Given the description of an element on the screen output the (x, y) to click on. 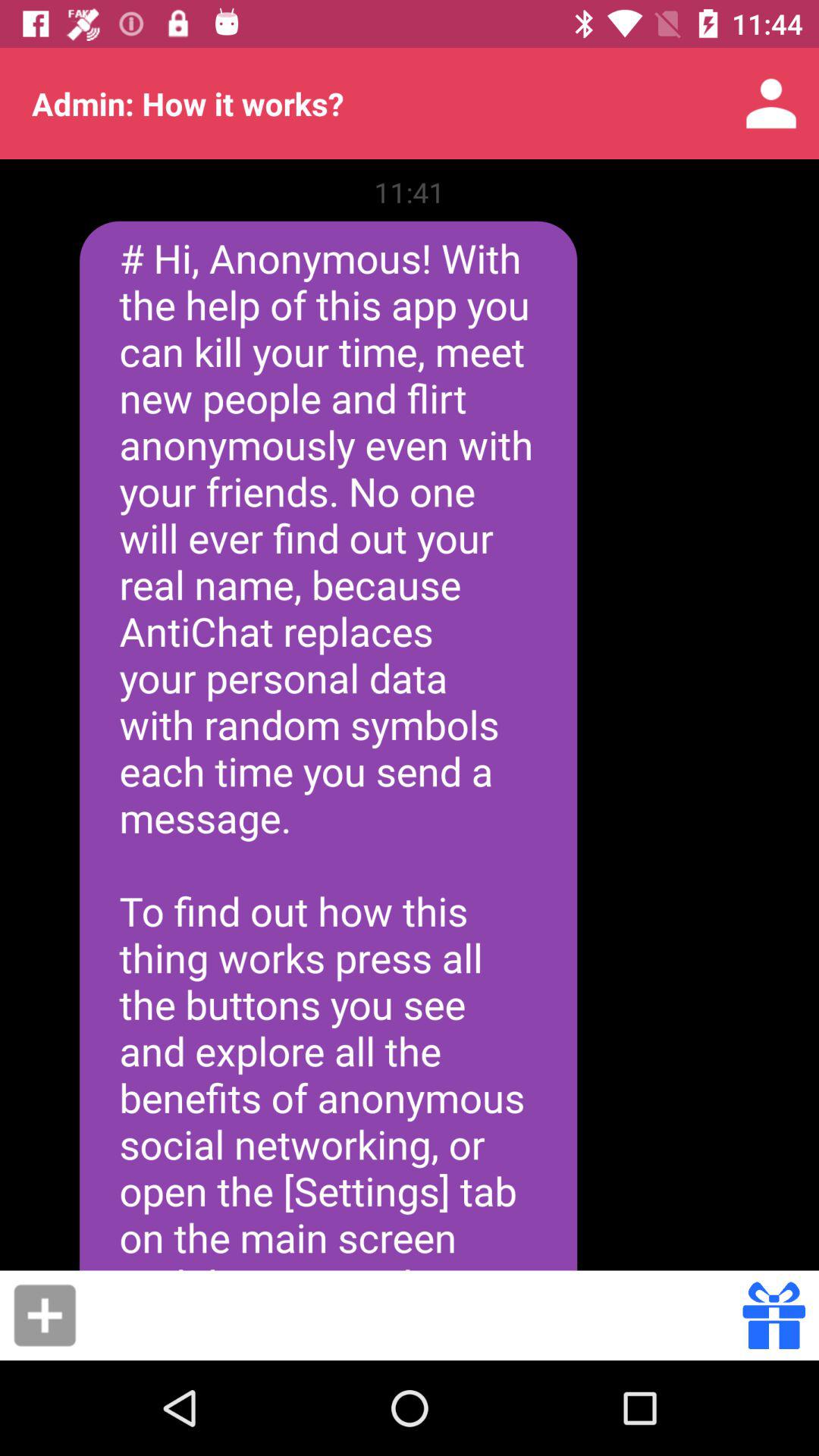
open icon below the hi anonymous with item (414, 1315)
